Given the description of an element on the screen output the (x, y) to click on. 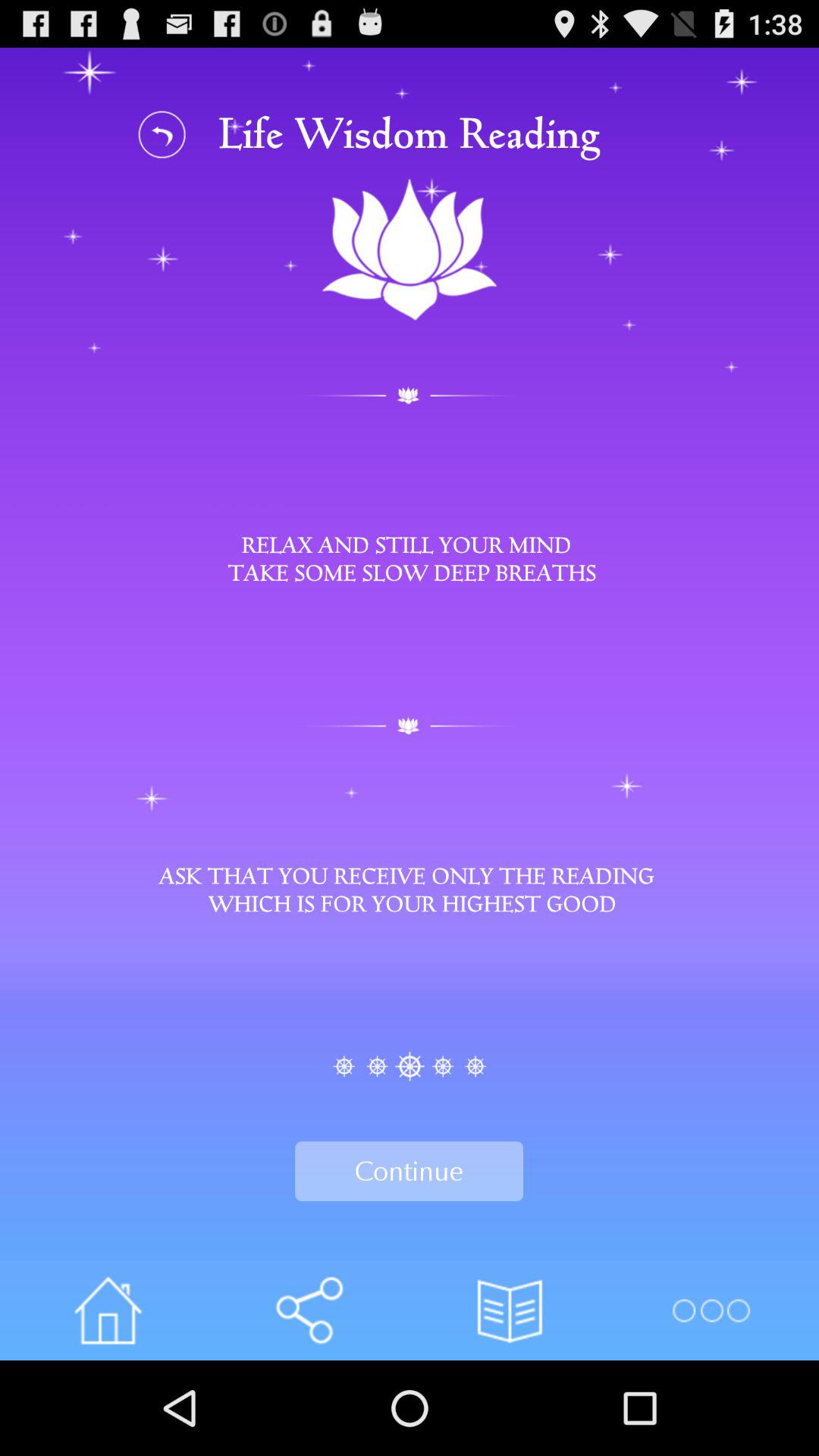
share option (308, 1310)
